Given the description of an element on the screen output the (x, y) to click on. 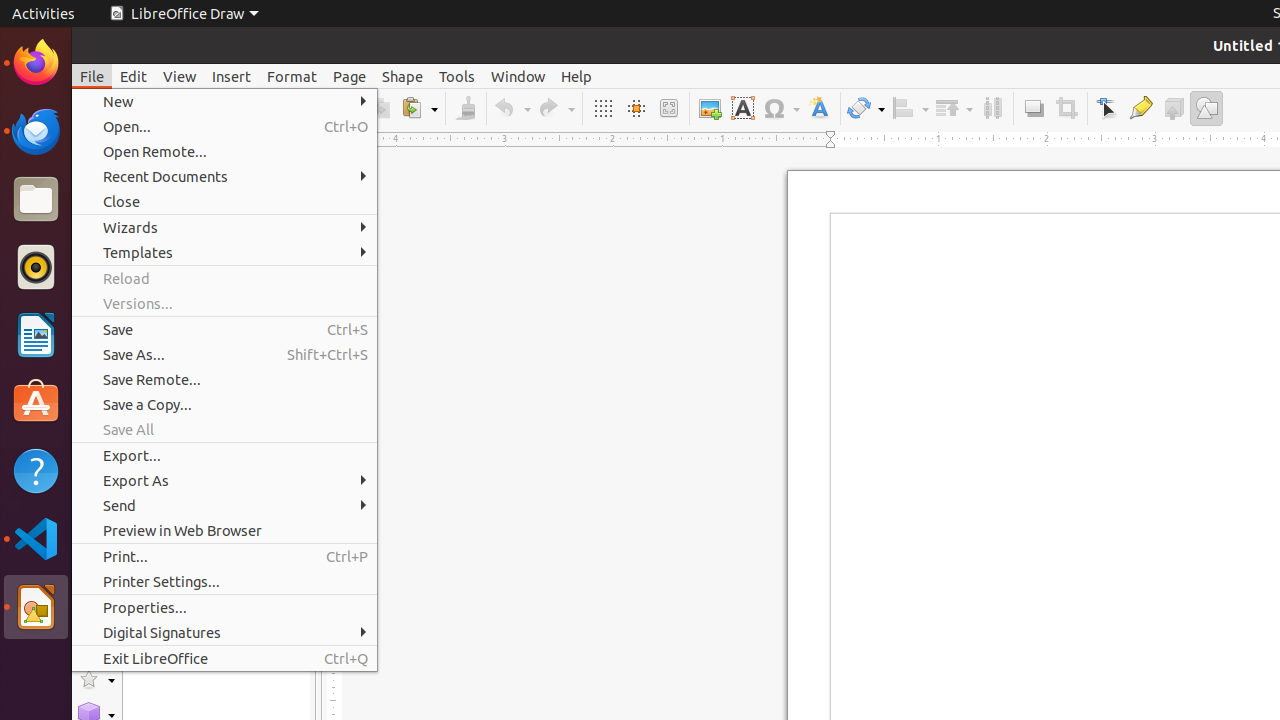
Crop Element type: push-button (1066, 108)
New Element type: menu (224, 101)
Redo Element type: push-button (556, 108)
Save All Element type: menu-item (224, 429)
Page Element type: menu (349, 76)
